Given the description of an element on the screen output the (x, y) to click on. 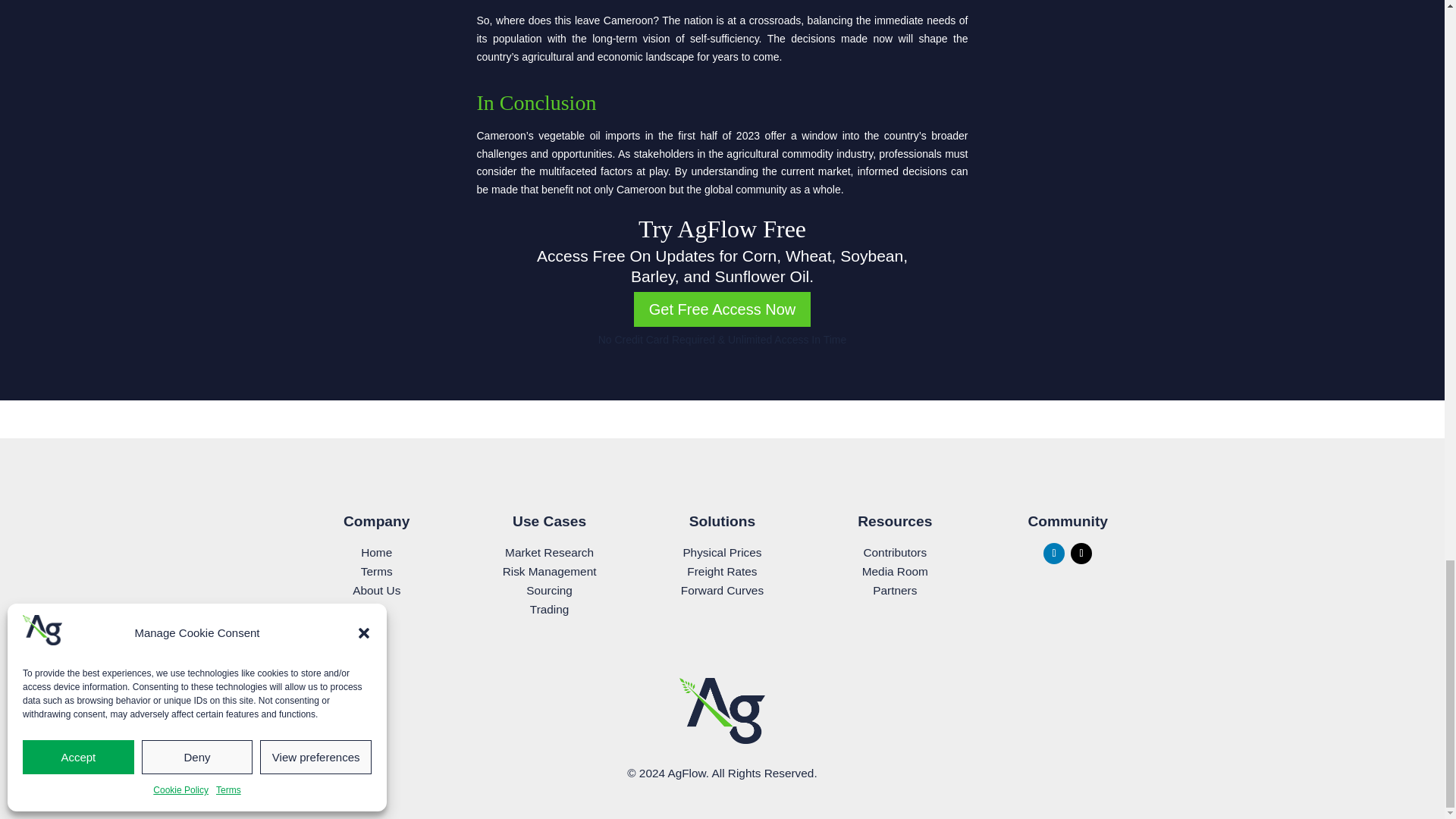
Follow on X (1081, 553)
Follow on LinkedIn (1053, 553)
